Given the description of an element on the screen output the (x, y) to click on. 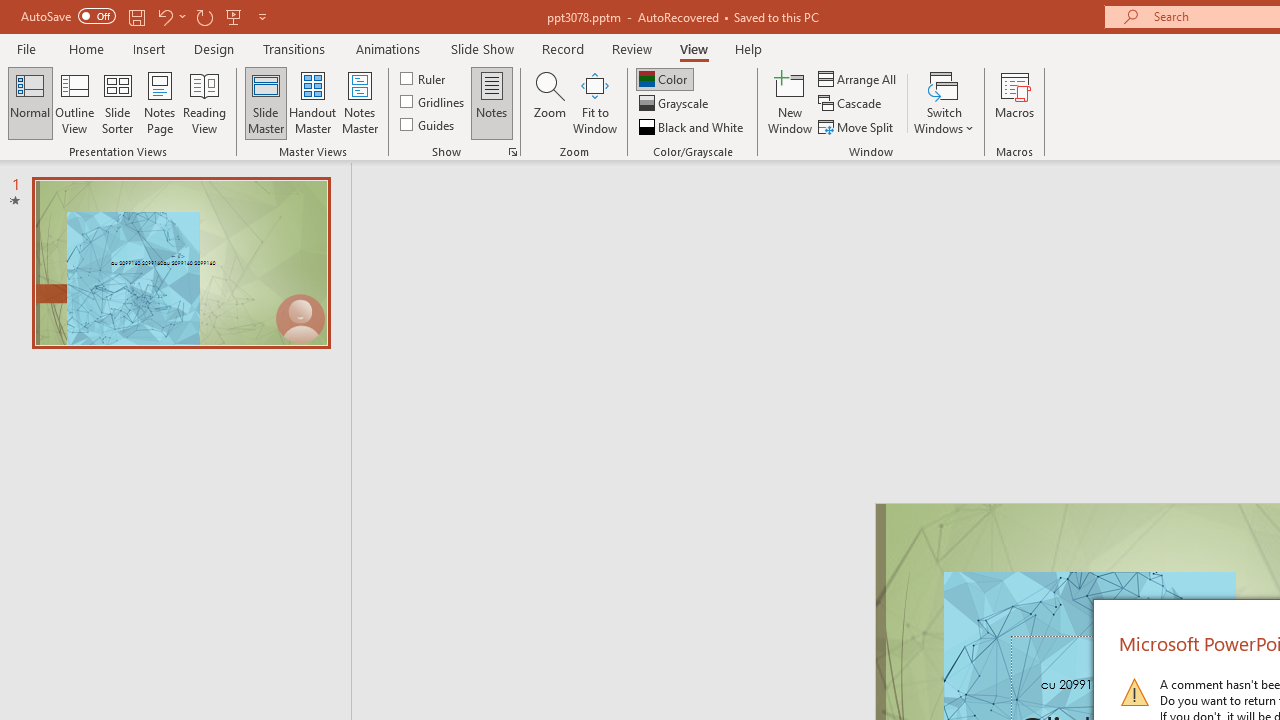
Arrange All (858, 78)
Reading View (204, 102)
Slide Master (265, 102)
Quick Access Toolbar (145, 16)
Fit to Window (594, 102)
Zoom... (549, 102)
Handout Master (312, 102)
Color (664, 78)
Insert (149, 48)
Ruler (423, 78)
Normal (29, 102)
Redo (204, 15)
More Options (182, 15)
